Given the description of an element on the screen output the (x, y) to click on. 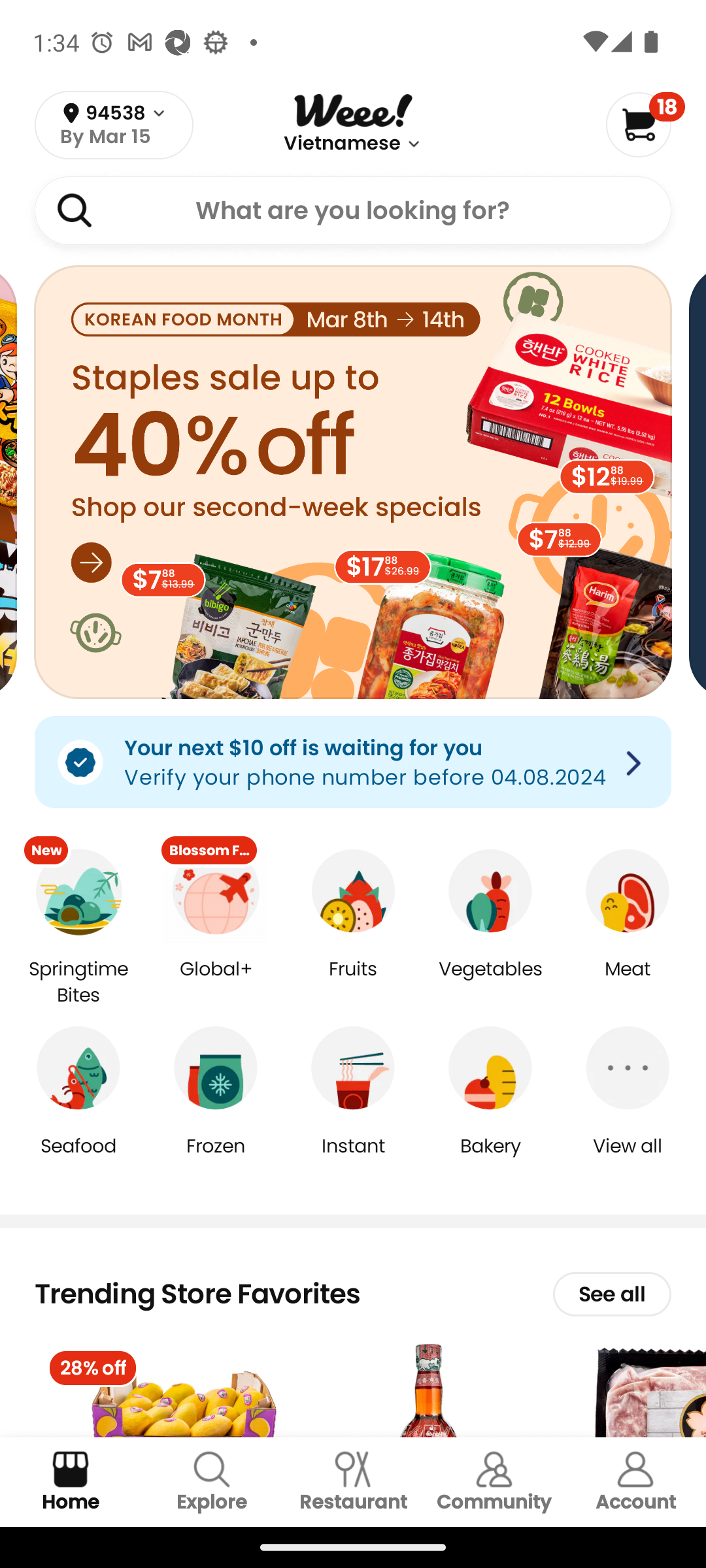
94538 By Mar 15 (113, 124)
18 (644, 124)
Vietnamese (342, 143)
What are you looking for? (352, 209)
Springtime Bites (77, 982)
Global+ (215, 982)
Fruits (352, 982)
Vegetables (490, 982)
Meat (627, 982)
Seafood (77, 1159)
Frozen (215, 1159)
Instant (352, 1159)
Bakery (490, 1159)
View all (627, 1159)
Home (70, 1482)
Explore (211, 1482)
Restaurant (352, 1482)
Community (493, 1482)
Account (635, 1482)
